Given the description of an element on the screen output the (x, y) to click on. 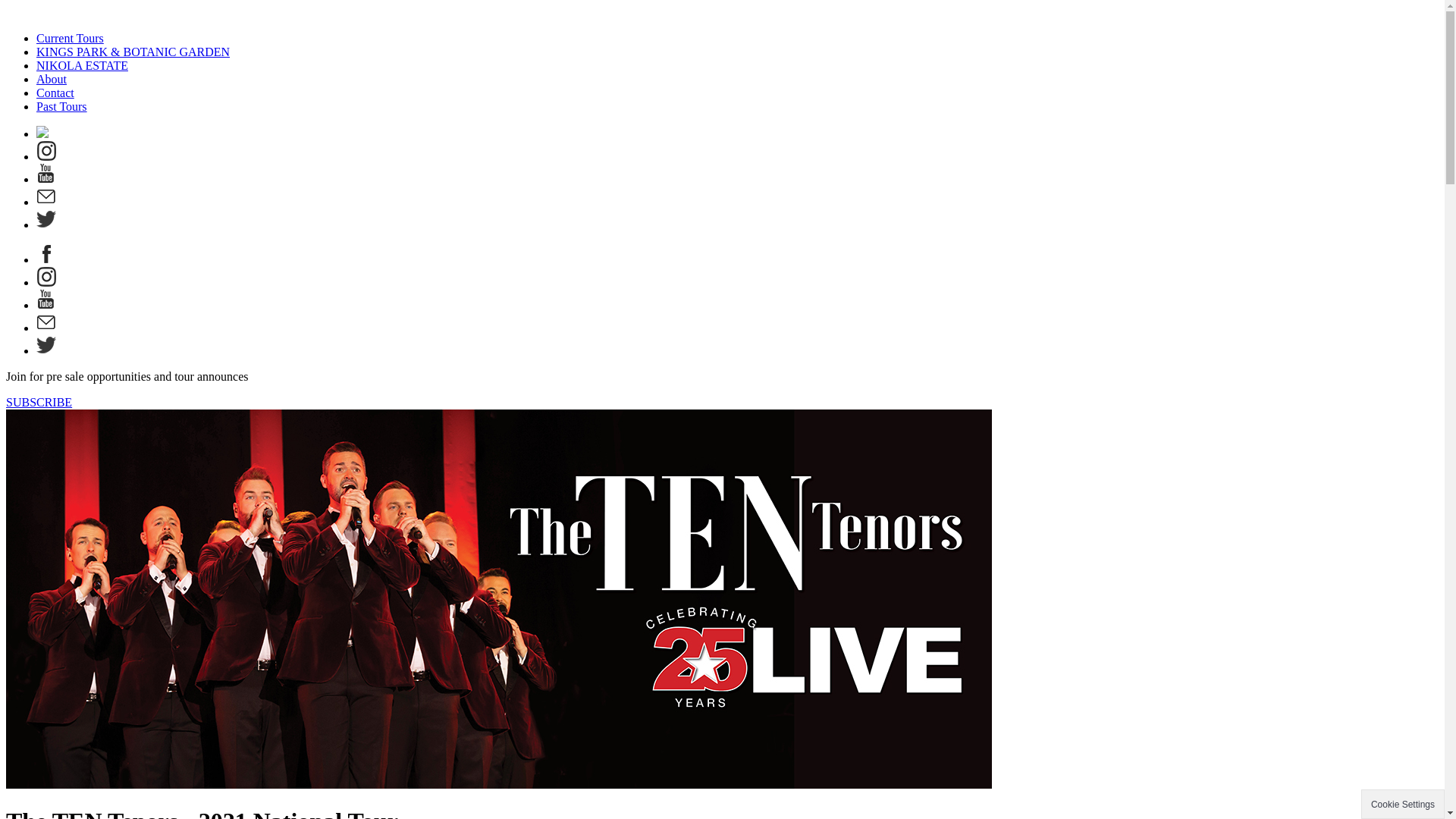
SUBSCRIBE Element type: text (39, 401)
About Element type: text (51, 78)
Contact Element type: text (55, 92)
KINGS PARK & BOTANIC GARDEN Element type: text (132, 51)
Current Tours Element type: text (69, 37)
NIKOLA ESTATE Element type: text (82, 65)
Past Tours Element type: text (61, 106)
